Given the description of an element on the screen output the (x, y) to click on. 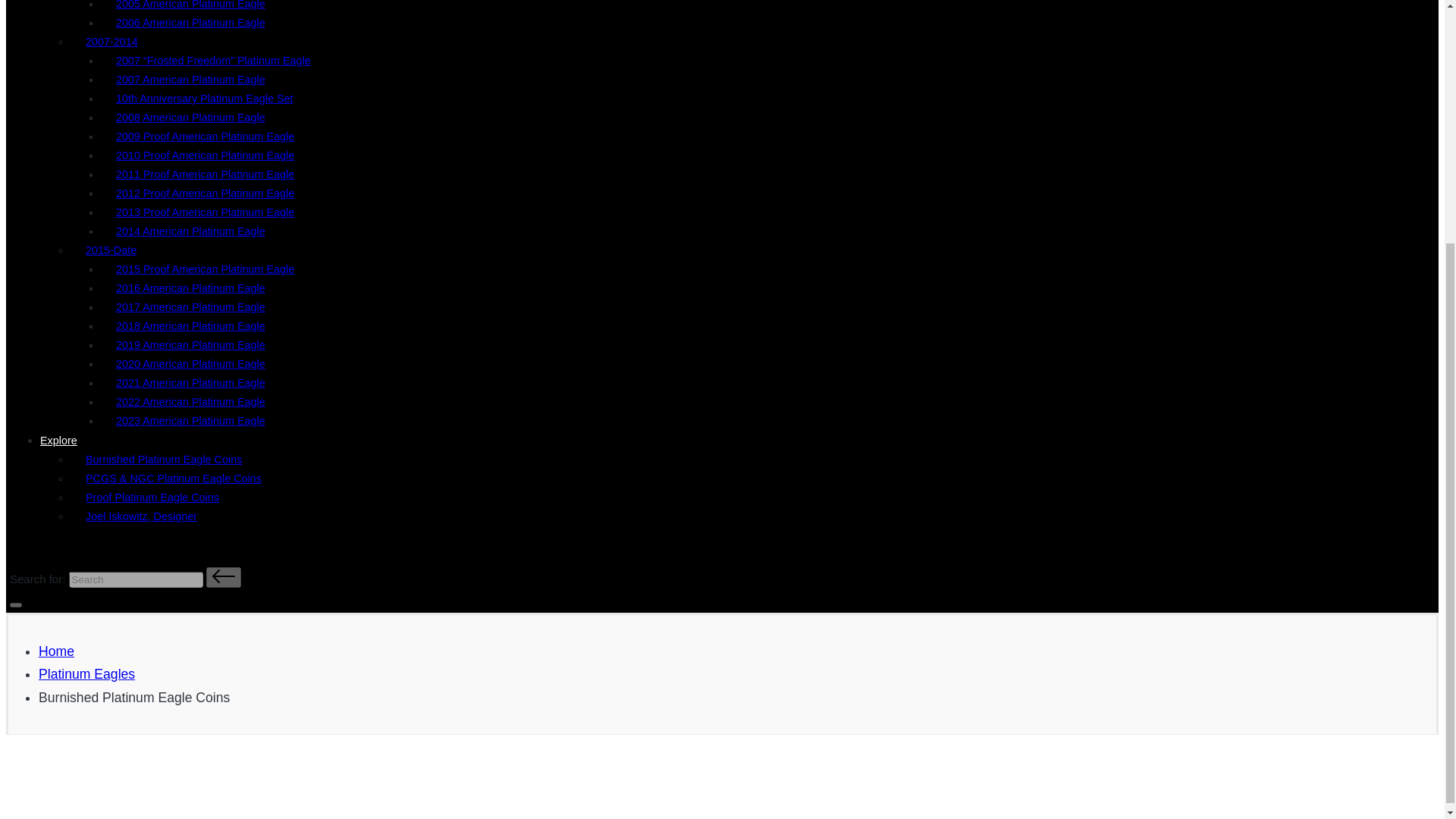
2010 Proof American Platinum Eagle (208, 154)
Explore (70, 440)
2009 Proof American Platinum Eagle (208, 135)
2021 American Platinum Eagle (194, 382)
2015-Date (126, 249)
2012 Proof American Platinum Eagle (208, 193)
2005 American Platinum Eagle (194, 8)
2008 American Platinum Eagle (194, 117)
2019 American Platinum Eagle (194, 344)
2016 American Platinum Eagle (194, 288)
2013 Proof American Platinum Eagle (208, 212)
2007 American Platinum Eagle (194, 79)
2014 American Platinum Eagle (194, 230)
10th Anniversary Platinum Eagle Set (207, 98)
2023 American Platinum Eagle (194, 420)
